Given the description of an element on the screen output the (x, y) to click on. 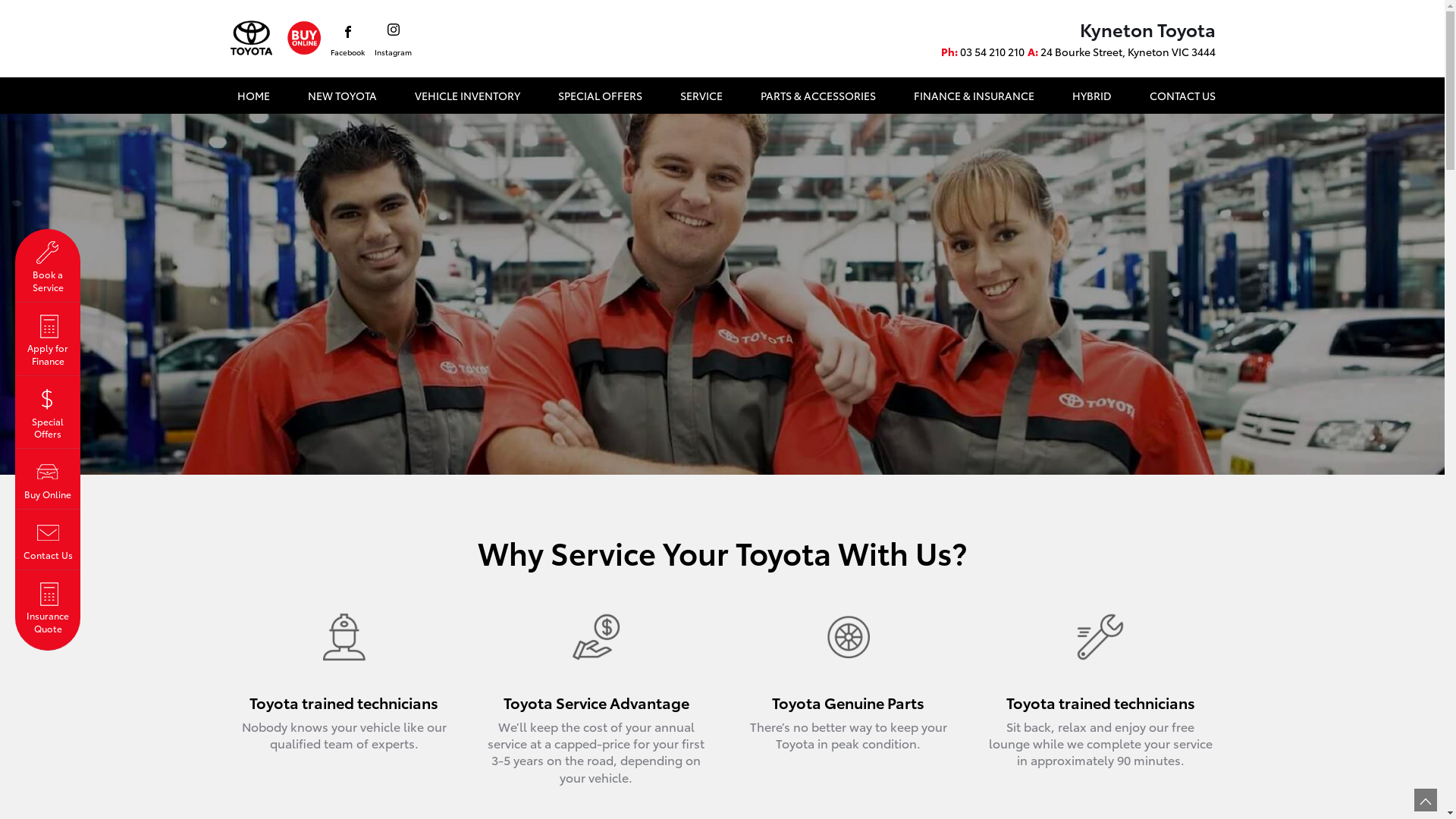
CONTACT US Element type: text (1178, 95)
Insurance Quote Element type: text (47, 610)
PARTS & ACCESSORIES Element type: text (817, 95)
Facebook Element type: text (347, 42)
SERVICE Element type: text (700, 95)
A: 24 Bourke Street, Kyneton VIC 3444 Element type: text (1120, 51)
Buy Online Element type: text (47, 478)
Apply for Finance Element type: text (47, 339)
HOME Element type: text (252, 95)
Ph: 03 54 210 210 Element type: text (981, 51)
SPECIAL OFFERS Element type: text (599, 95)
Contact Us Element type: text (47, 539)
VEHICLE INVENTORY Element type: text (466, 95)
Book a Service Element type: text (47, 265)
FINANCE & INSURANCE Element type: text (973, 95)
Instagram Element type: text (392, 40)
Special Offers Element type: text (47, 412)
HYBRID Element type: text (1091, 95)
NEW TOYOTA Element type: text (342, 95)
